Given the description of an element on the screen output the (x, y) to click on. 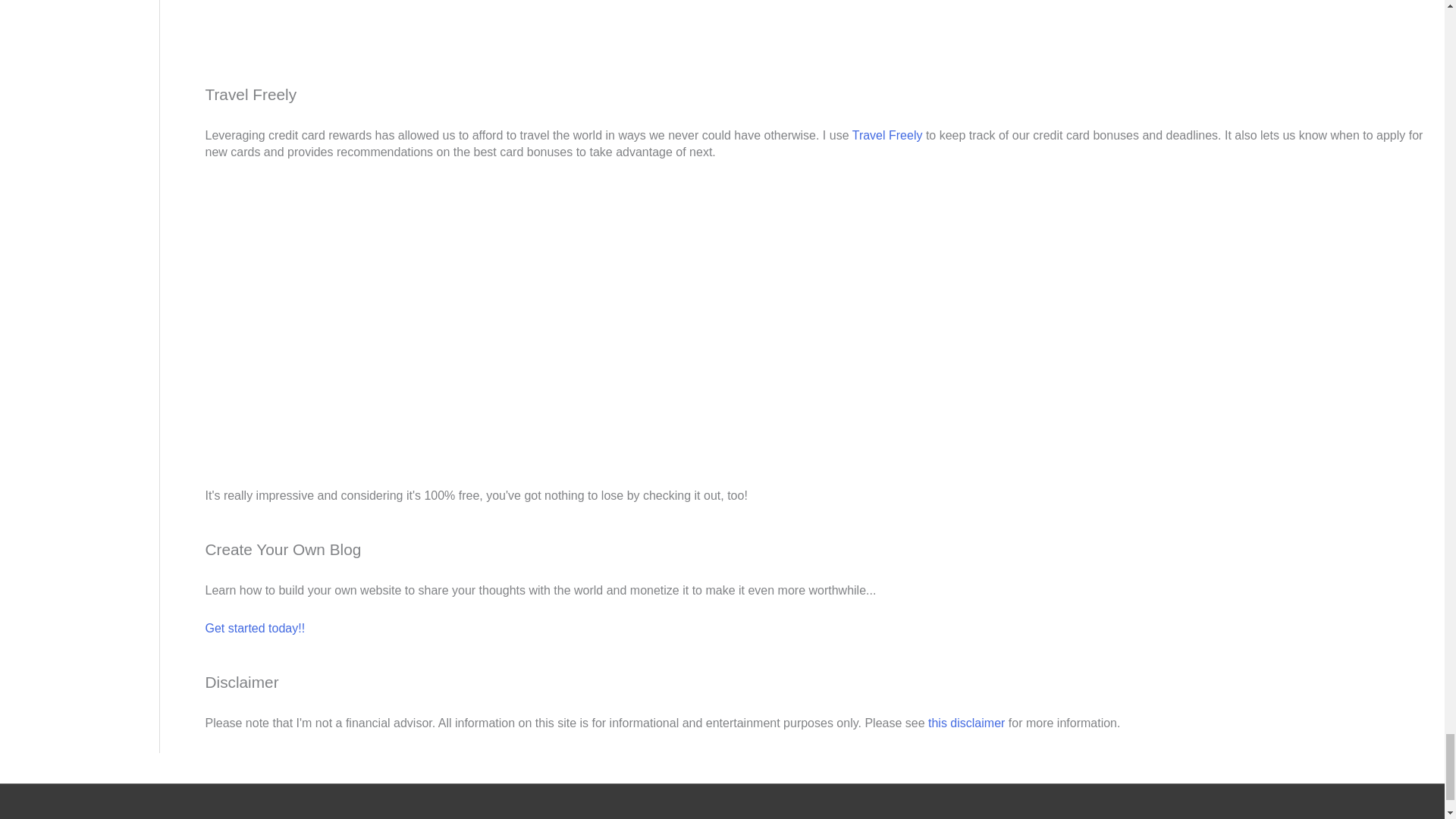
Travel Freely (318, 322)
Travel Freely (887, 134)
